Given the description of an element on the screen output the (x, y) to click on. 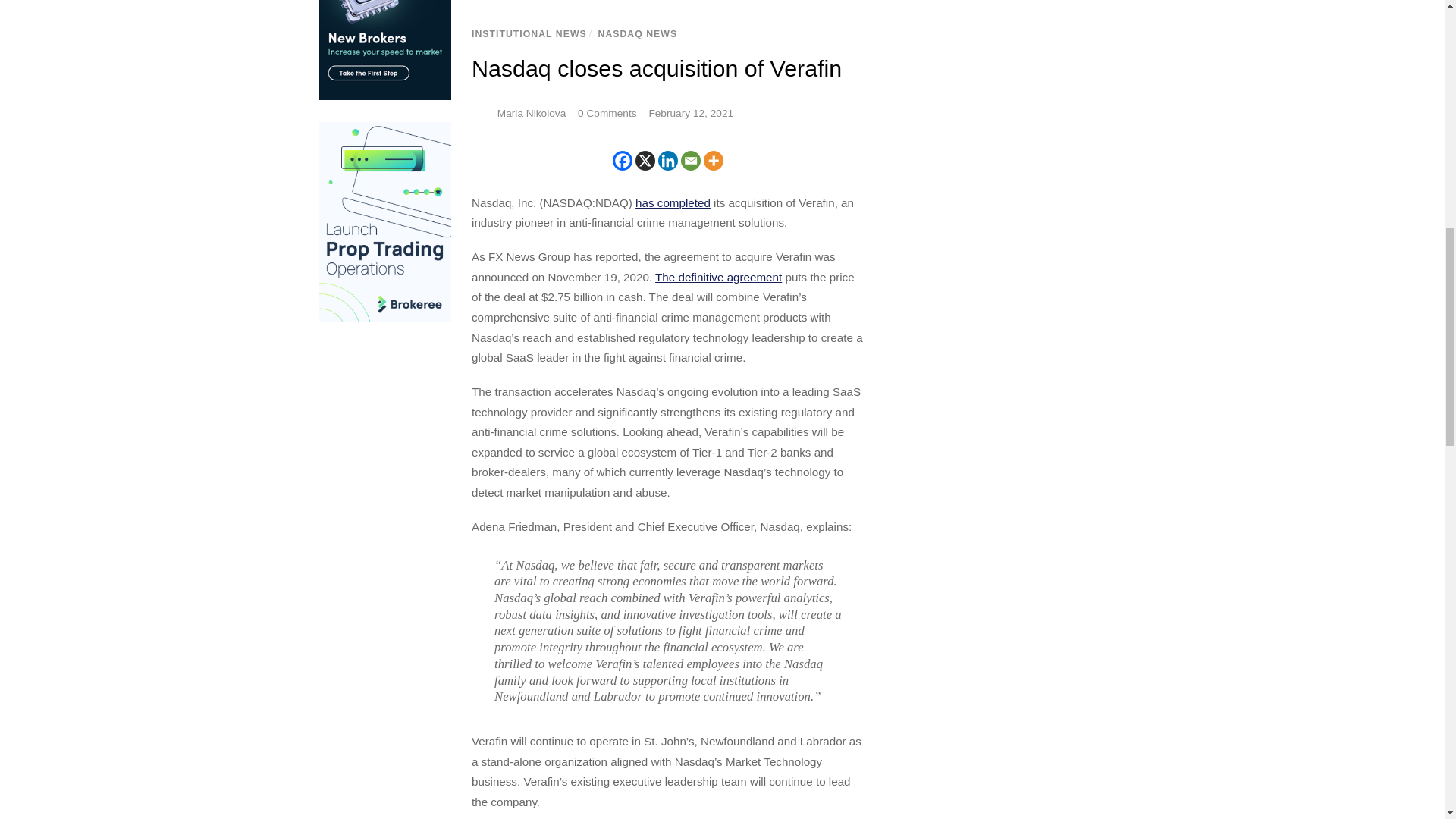
Linkedin (668, 160)
Email (690, 160)
Facebook (621, 160)
X (644, 160)
More (713, 160)
